Given the description of an element on the screen output the (x, y) to click on. 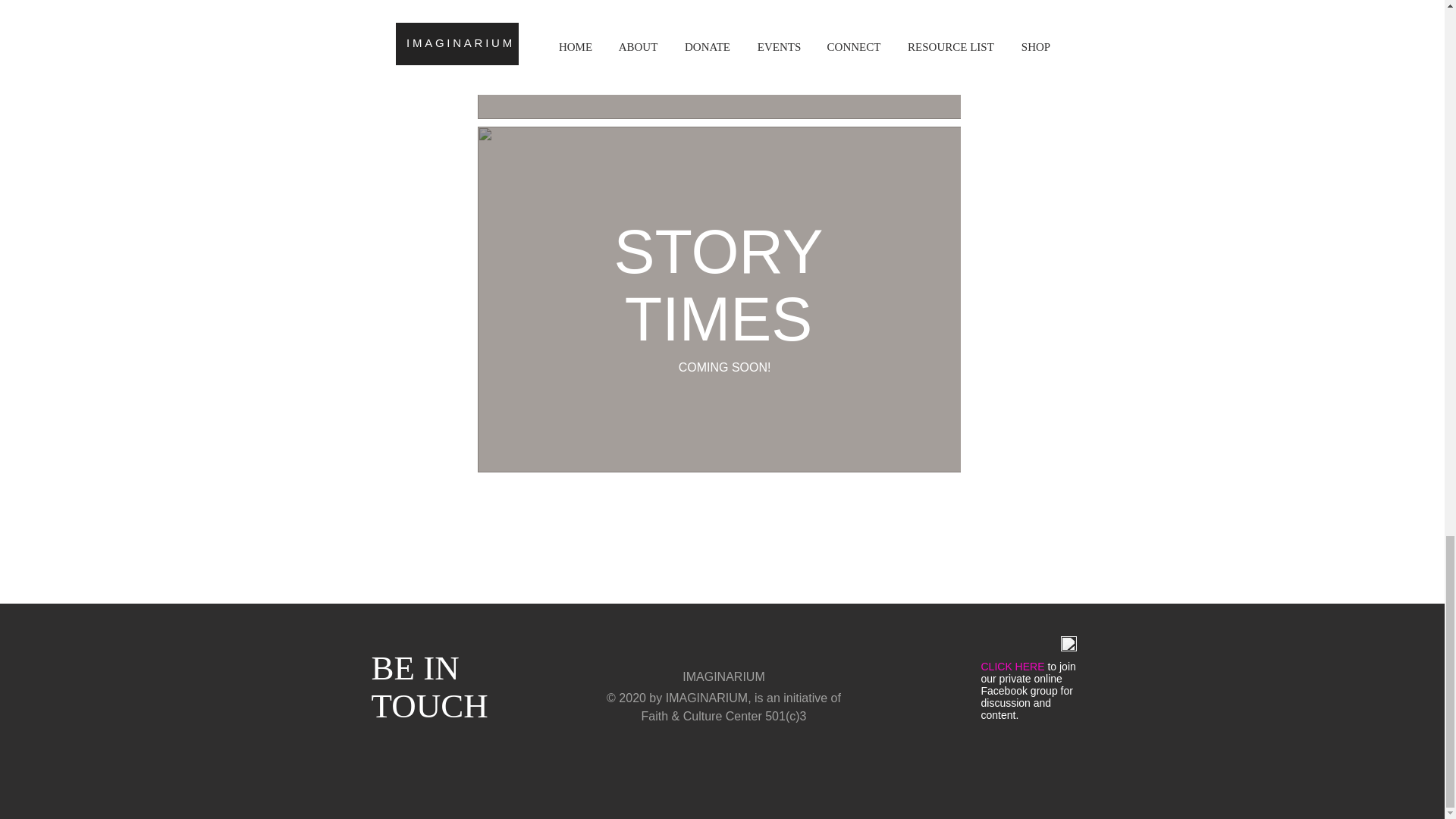
CLICK HERE (429, 686)
CLICK FOR MORE INFO (1013, 666)
